Given the description of an element on the screen output the (x, y) to click on. 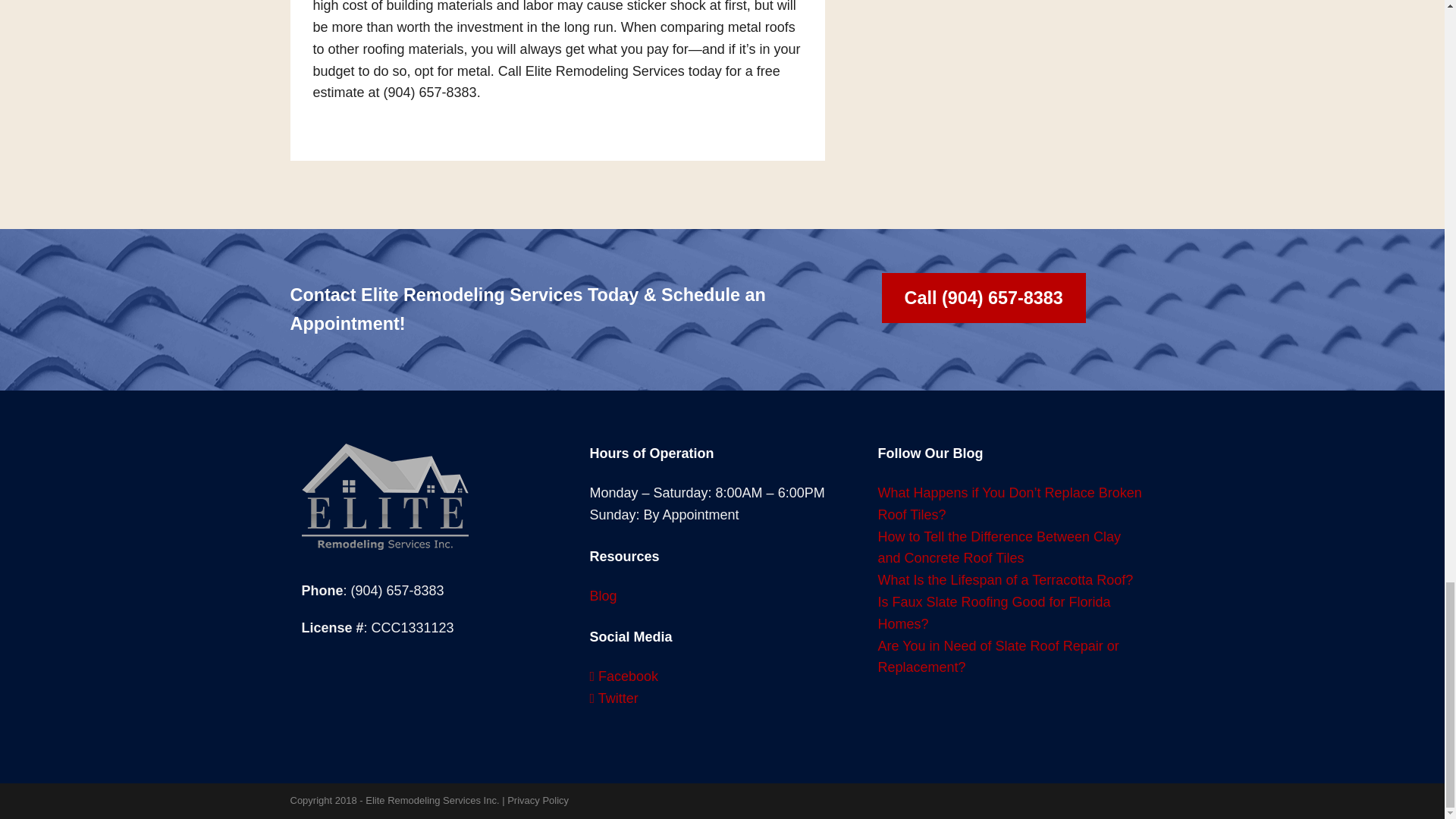
Facebook (623, 676)
What Is the Lifespan of a Terracotta Roof? (1004, 580)
Twitter (613, 698)
Blog (602, 595)
Privacy Policy (537, 799)
Is Faux Slate Roofing Good for Florida Homes? (993, 612)
Elite Remodeling Services Inc. (432, 799)
Are You in Need of Slate Roof Repair or Replacement? (997, 656)
